Given the description of an element on the screen output the (x, y) to click on. 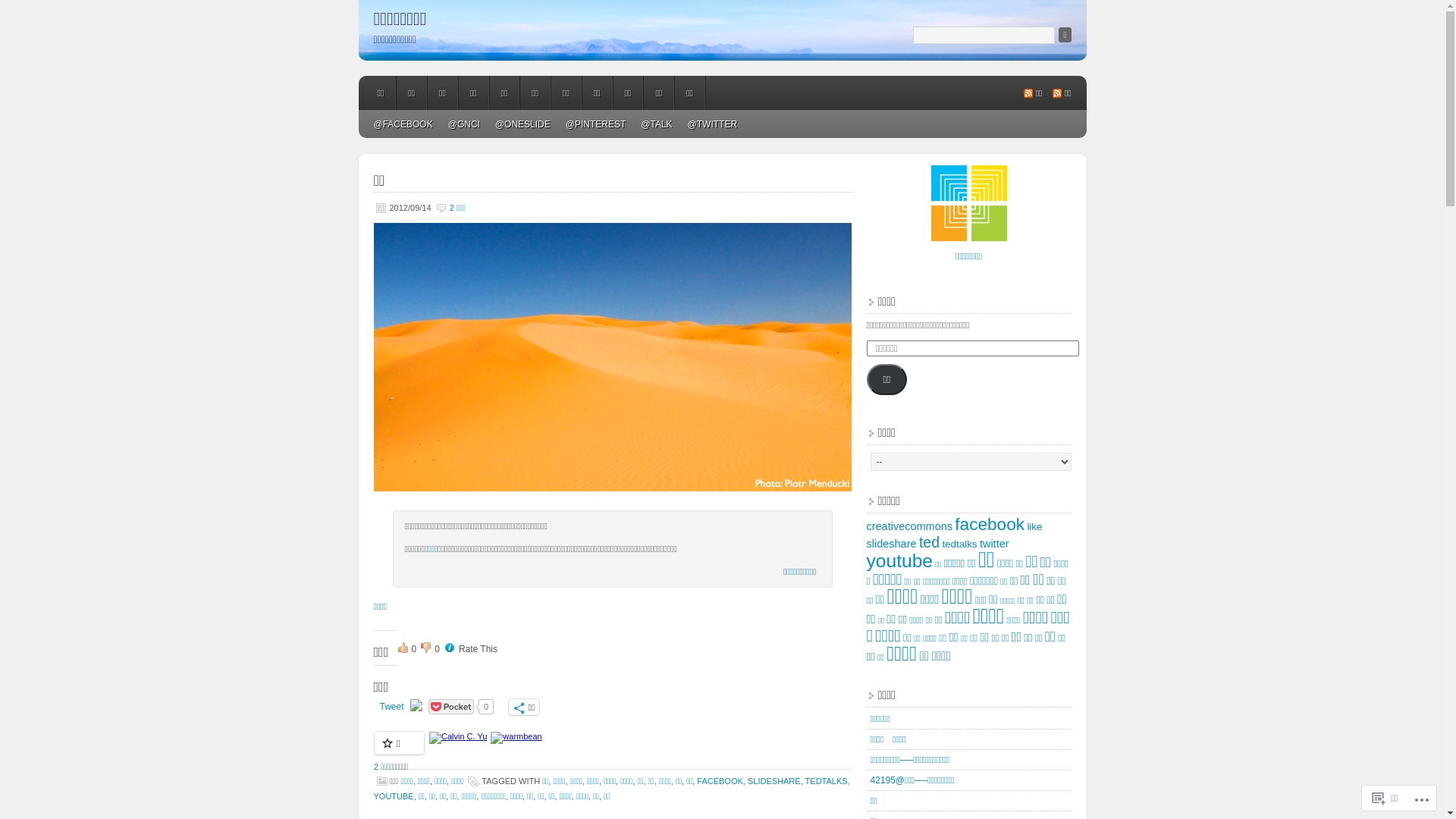
twitter Element type: text (994, 543)
creativecommons Element type: text (909, 526)
@TWITTER Element type: text (712, 123)
YOUTUBE Element type: text (393, 795)
ted Element type: text (929, 541)
youtube Element type: text (898, 560)
@GNCI Element type: text (463, 123)
@FACEBOOK Element type: text (402, 123)
netfish-20120914-mining-1280 Element type: hover (611, 356)
@TALK Element type: text (656, 123)
facebook Element type: text (989, 523)
like Element type: text (1033, 526)
TEDTALKS Element type: text (826, 780)
@PINTEREST Element type: text (595, 123)
tedtalks Element type: text (958, 543)
Tweet Element type: text (391, 705)
slideshare Element type: text (891, 543)
SLIDESHARE Element type: text (773, 780)
@ONESLIDE Element type: text (522, 123)
FACEBOOK Element type: text (719, 780)
